Given the description of an element on the screen output the (x, y) to click on. 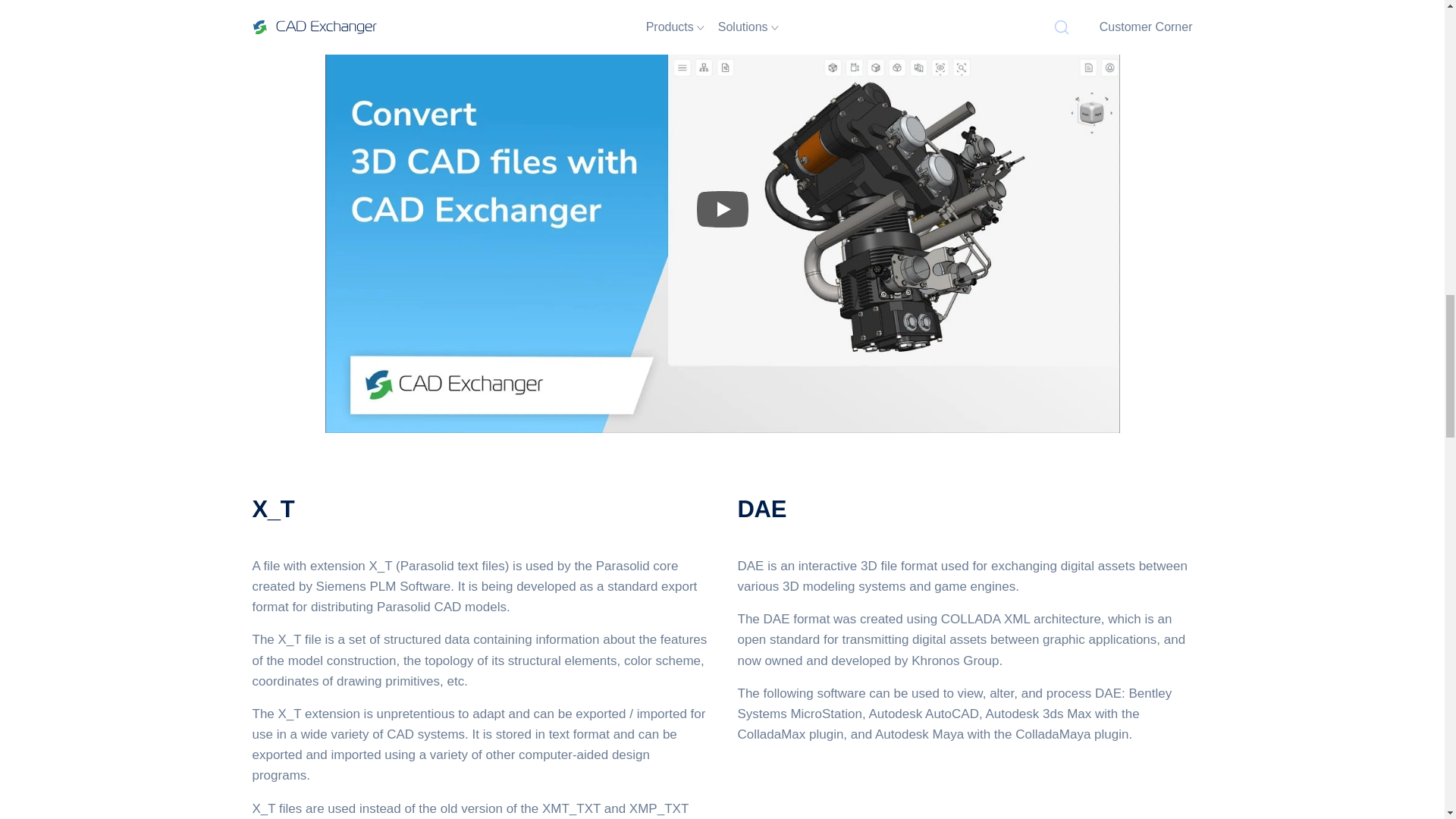
Play 3D CAD files conversion in CAD Exchanger (721, 208)
DAE (761, 509)
